Given the description of an element on the screen output the (x, y) to click on. 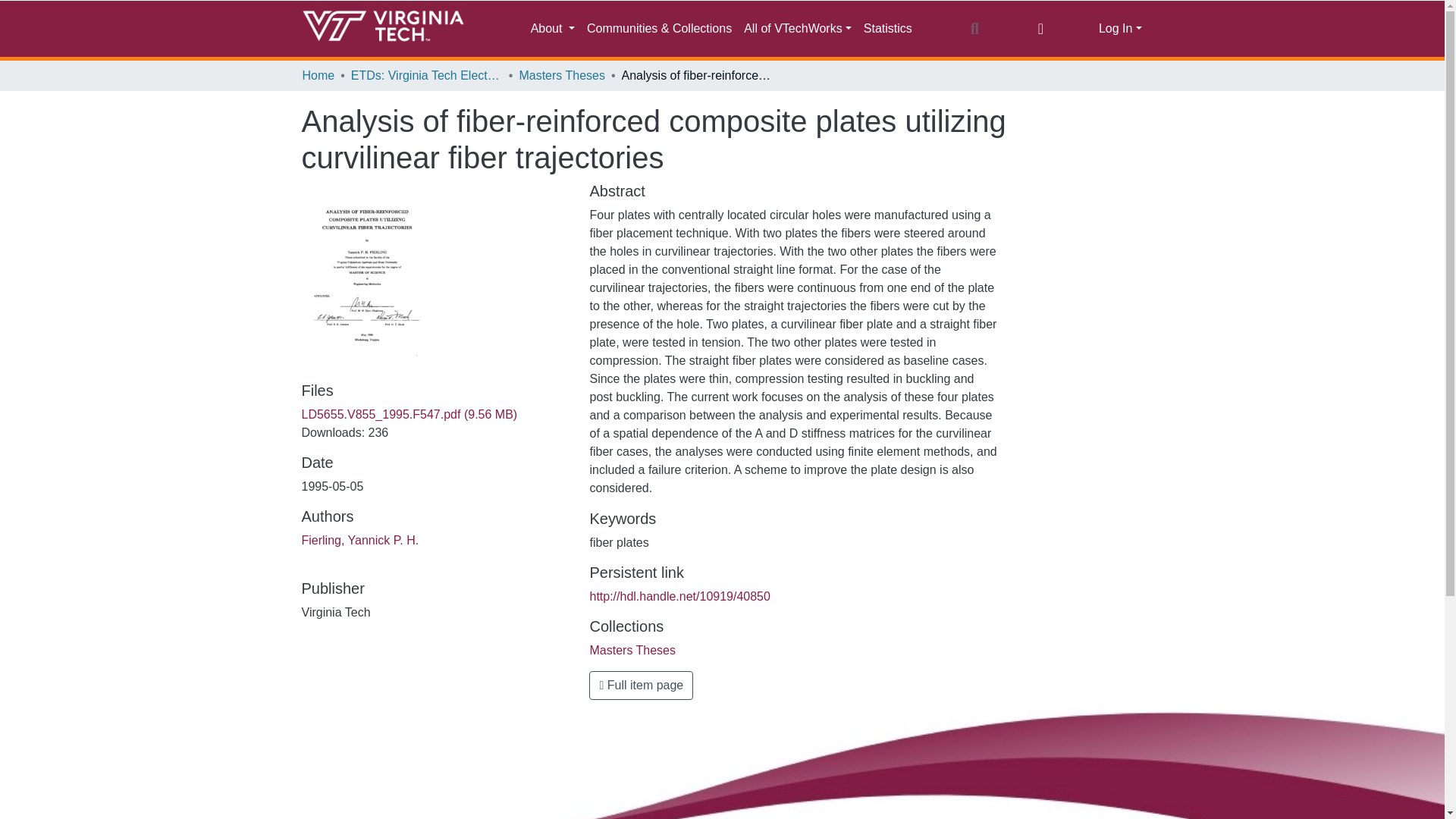
Masters Theses (632, 649)
Statistics (887, 28)
Statistics (887, 28)
Home (317, 75)
All of VTechWorks (797, 28)
Search (974, 28)
About (552, 28)
Fierling, Yannick P. H. (360, 540)
ETDs: Virginia Tech Electronic Theses and Dissertations (426, 75)
Masters Theses (561, 75)
